Given the description of an element on the screen output the (x, y) to click on. 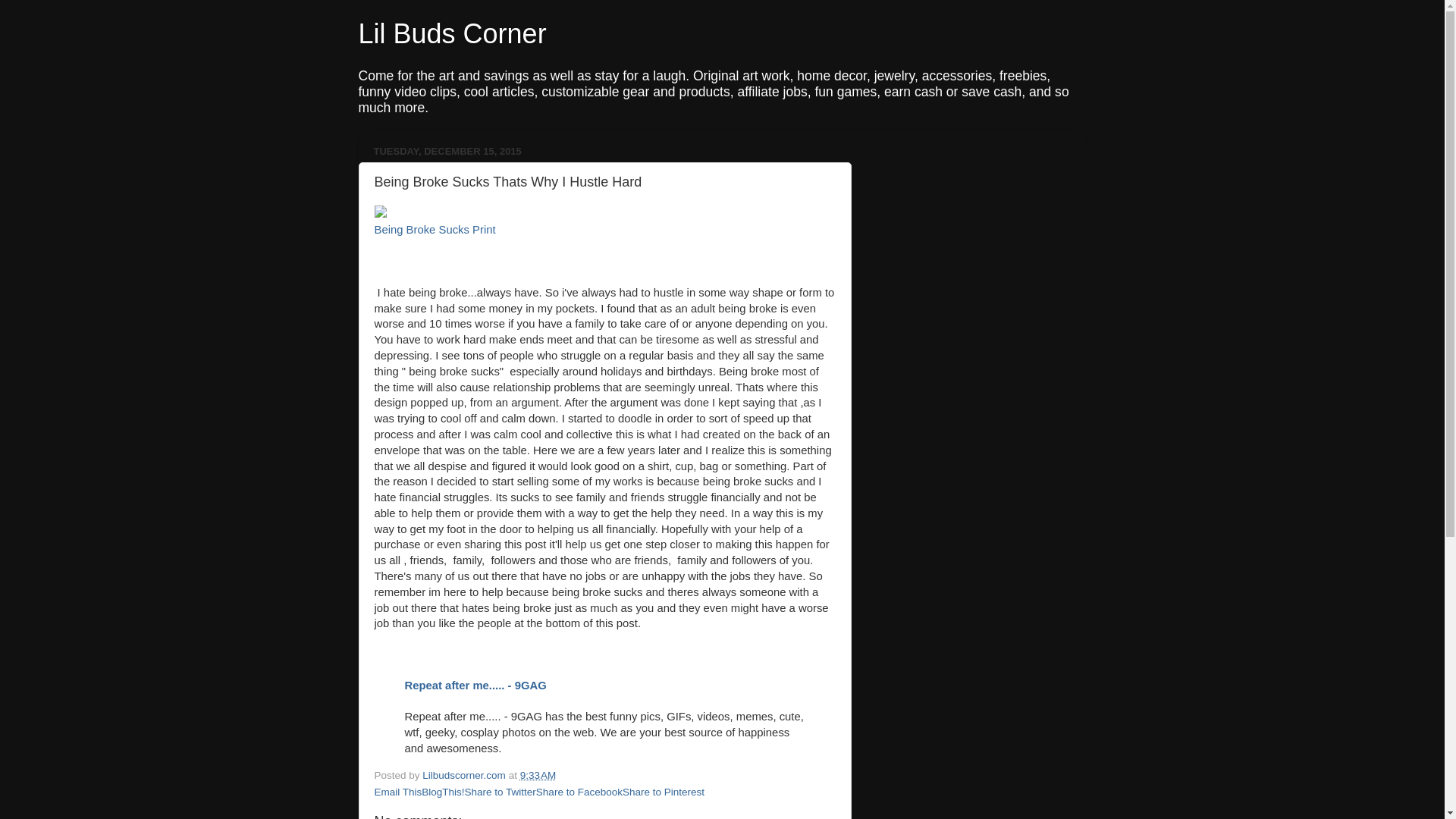
BlogThis! (443, 791)
BlogThis! (443, 791)
Being Broke Sucks Print (435, 229)
Share to Pinterest (663, 791)
Email This (398, 791)
Share to Facebook (579, 791)
Email This (398, 791)
Share to Facebook (579, 791)
author profile (465, 775)
